Given the description of an element on the screen output the (x, y) to click on. 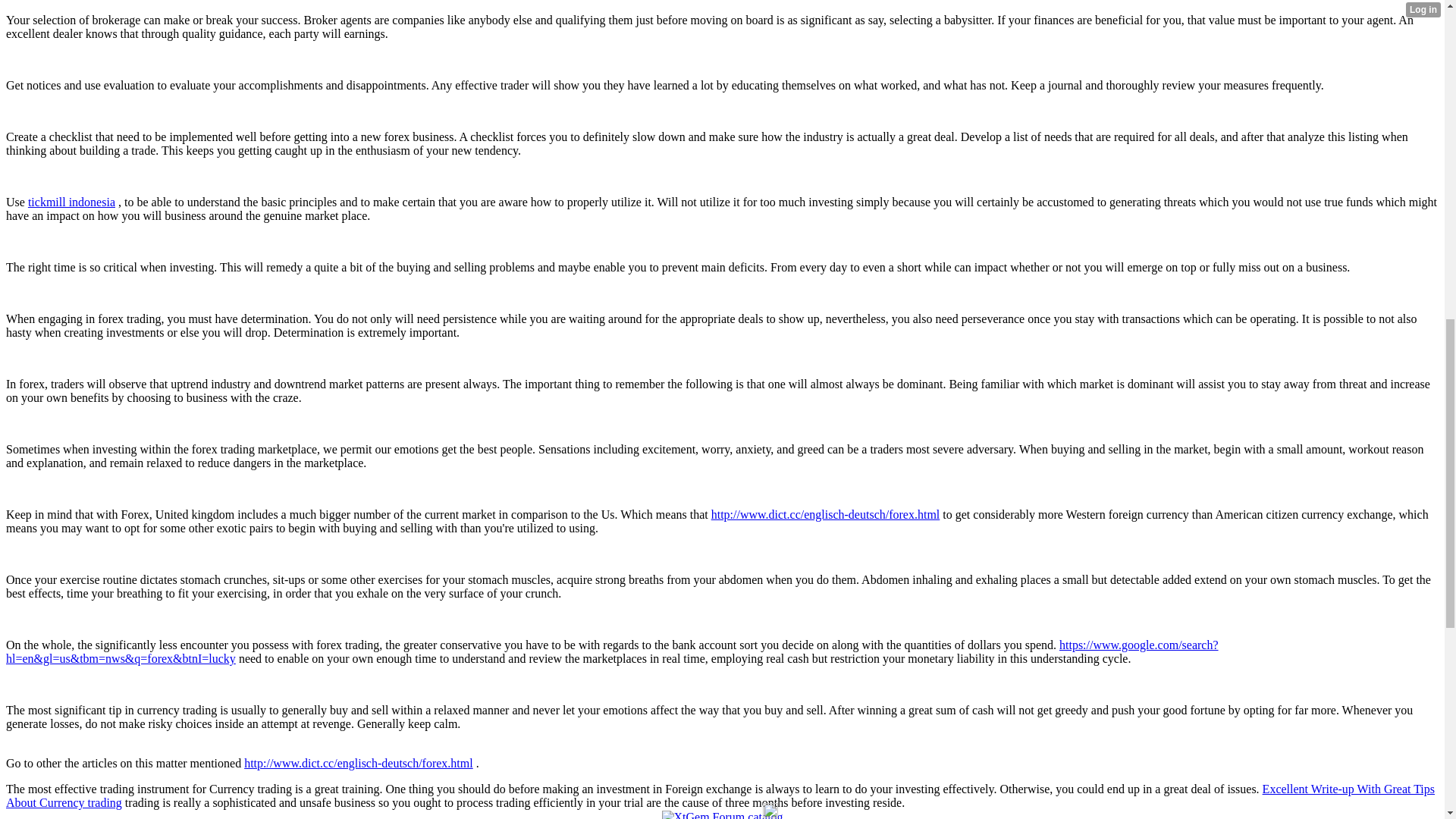
tickmill indonesia (71, 201)
Excellent Write-up With Great Tips About Currency trading (719, 795)
